Given the description of an element on the screen output the (x, y) to click on. 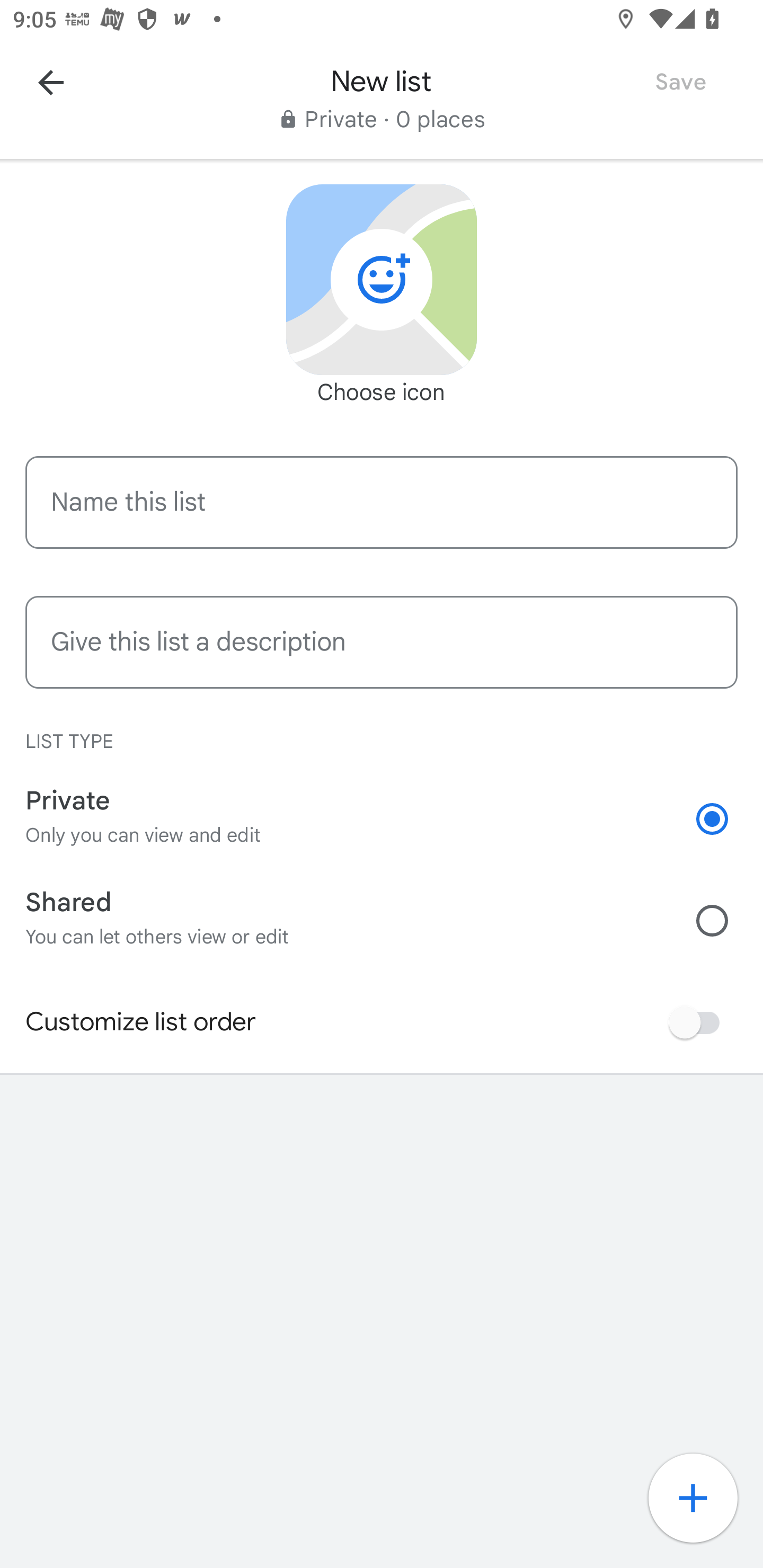
Navigate up (50, 81)
Save (680, 81)
Choose icon (381, 279)
Name this list (381, 502)
Give this list a description (381, 641)
Private (724, 818)
Shared (724, 920)
Customize list order (699, 1021)
Add place to list (702, 1507)
